Given the description of an element on the screen output the (x, y) to click on. 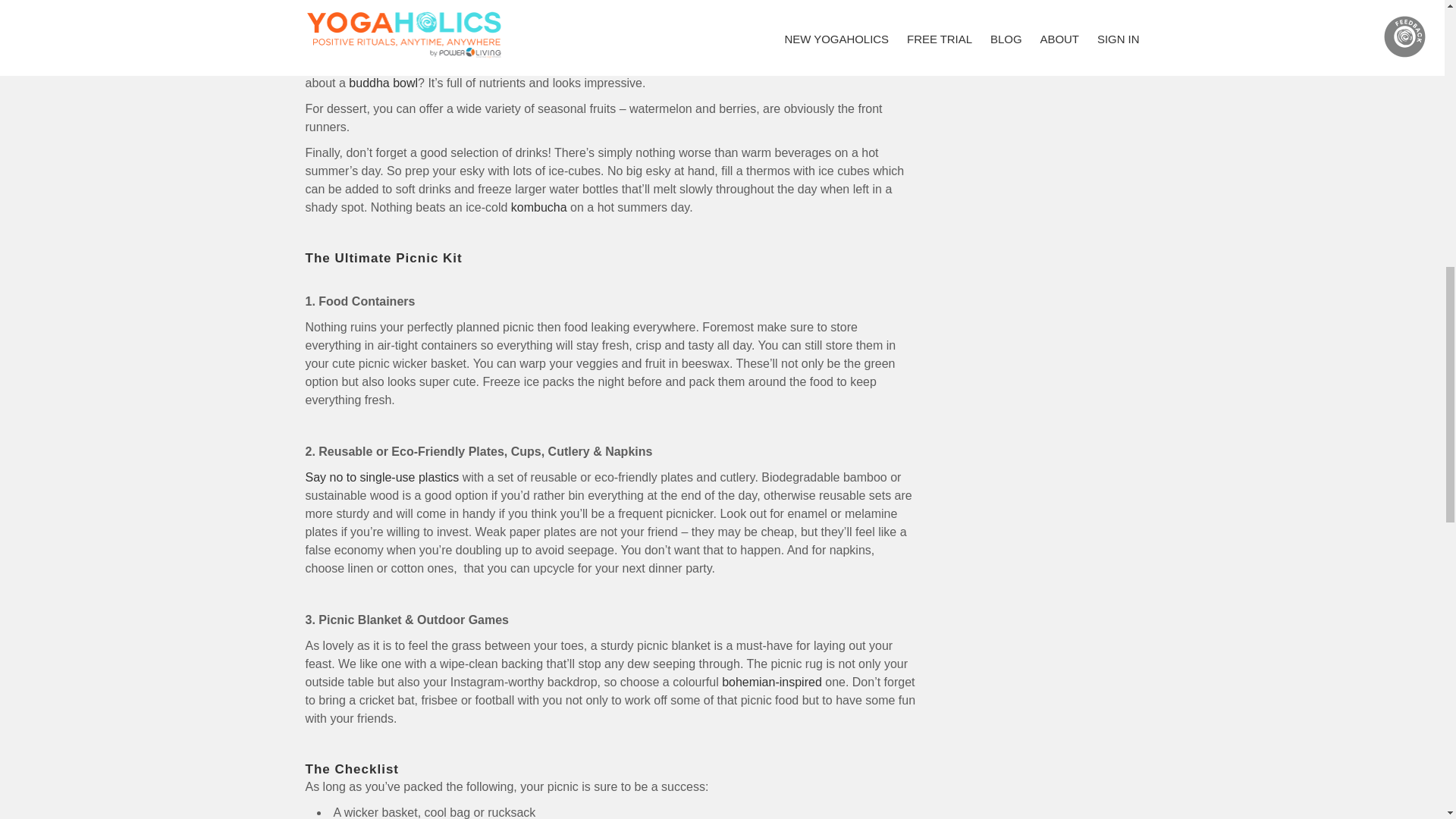
bohemian-inspired (772, 681)
kombucha (539, 206)
Say no to single-use plastics (381, 477)
buddha bowl (383, 82)
